Given the description of an element on the screen output the (x, y) to click on. 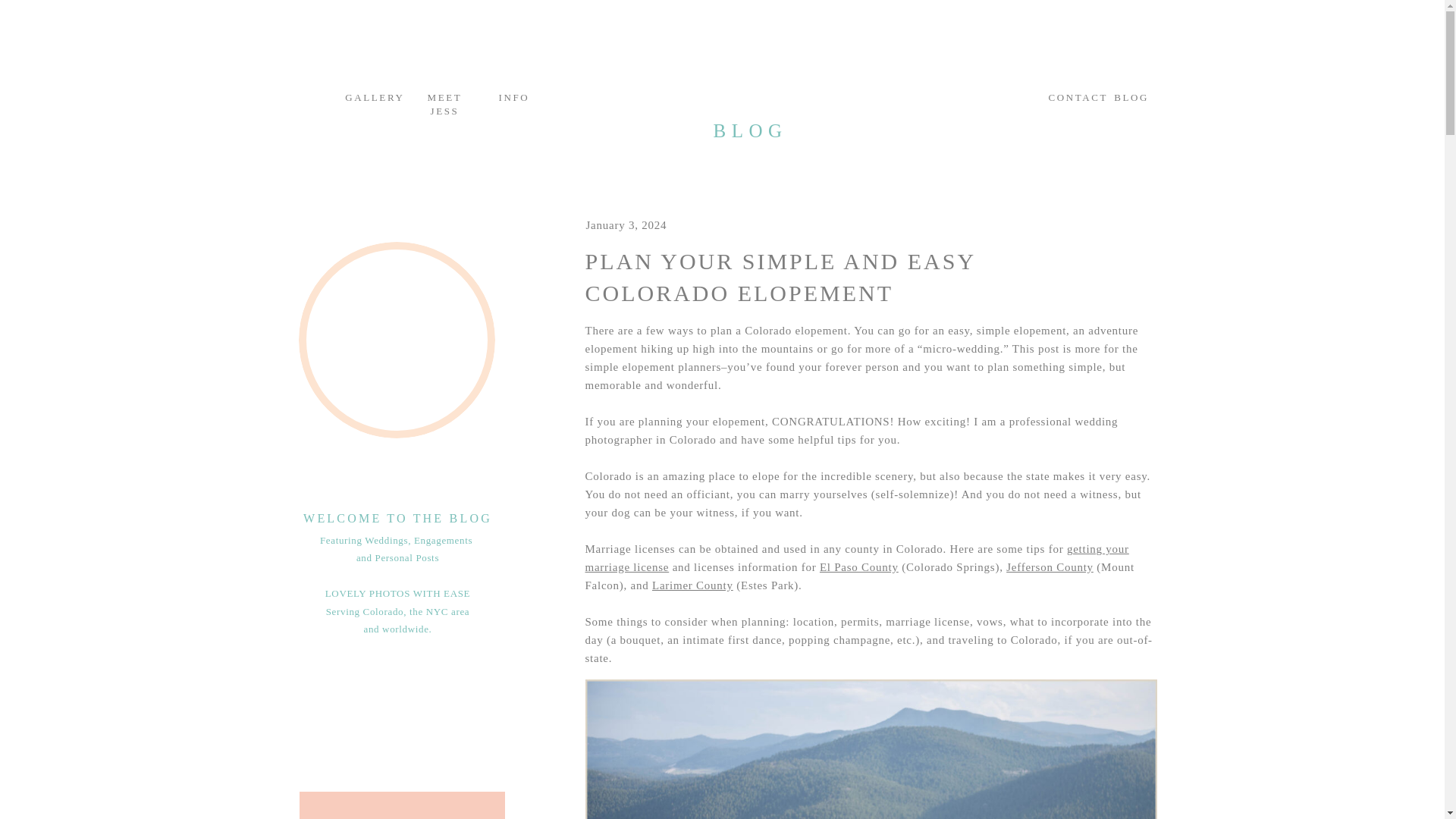
MEET JESS (443, 100)
Larimer County (692, 585)
getting your marriage license (857, 557)
GALLERY (367, 100)
BLOG (1127, 100)
CONTACT (1070, 100)
Jefferson County (1049, 567)
INFO (510, 100)
El Paso County (858, 567)
